Given the description of an element on the screen output the (x, y) to click on. 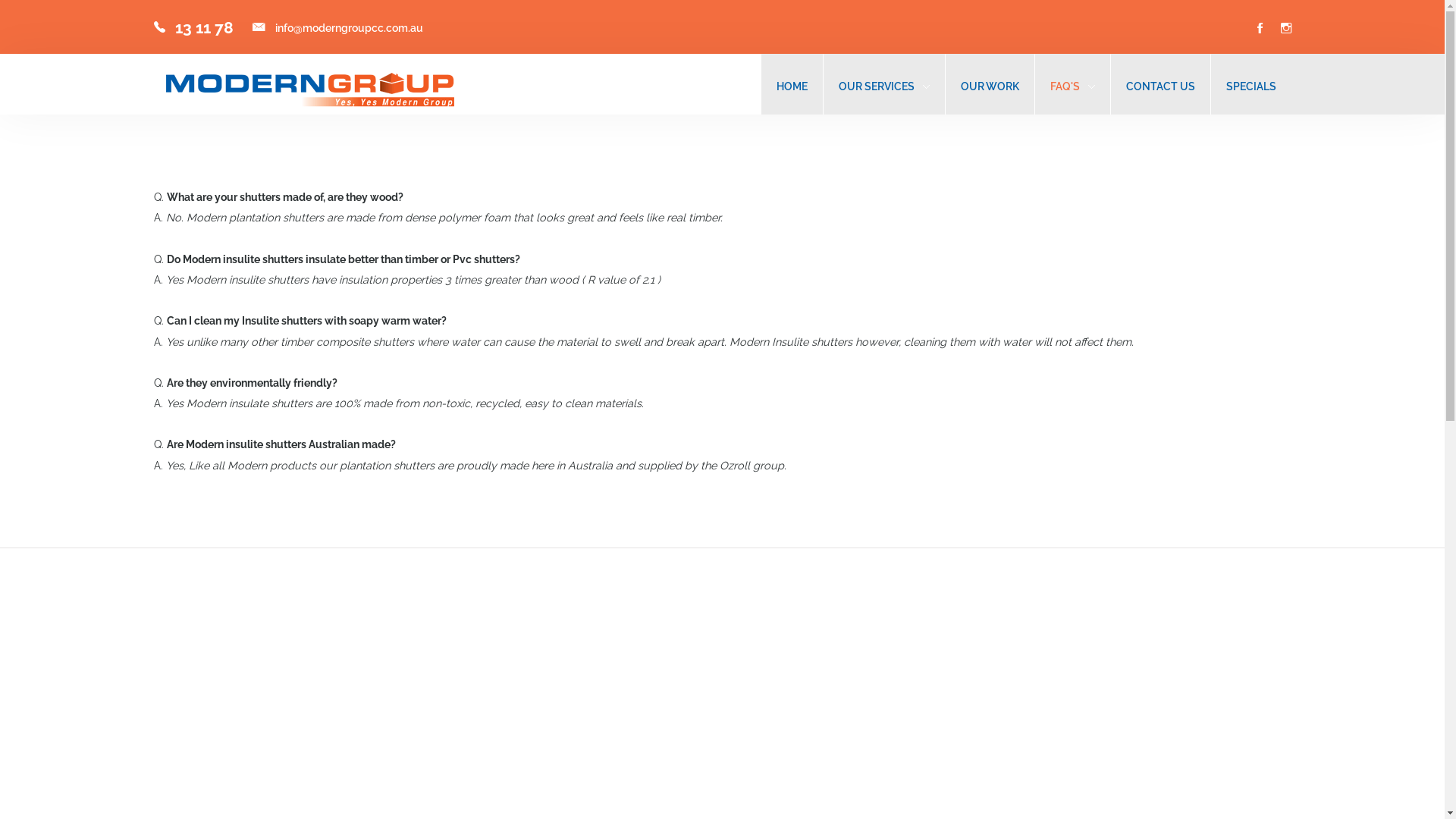
OUR SERVICES Element type: text (883, 85)
OUR SERVICES Element type: text (876, 85)
SPECIALS Element type: text (1250, 85)
FAQ'S Element type: text (1064, 85)
SPECIALS Element type: text (1250, 85)
info@moderngroupcc.com.au Element type: text (348, 27)
CONTACT US Element type: text (1159, 85)
FAQ'S Element type: text (1071, 85)
CONTACT US Element type: text (1159, 85)
HOME Element type: text (791, 85)
13 11 78 Element type: text (203, 27)
OUR WORK Element type: text (989, 85)
HOME Element type: text (791, 85)
OUR WORK Element type: text (989, 85)
